Given the description of an element on the screen output the (x, y) to click on. 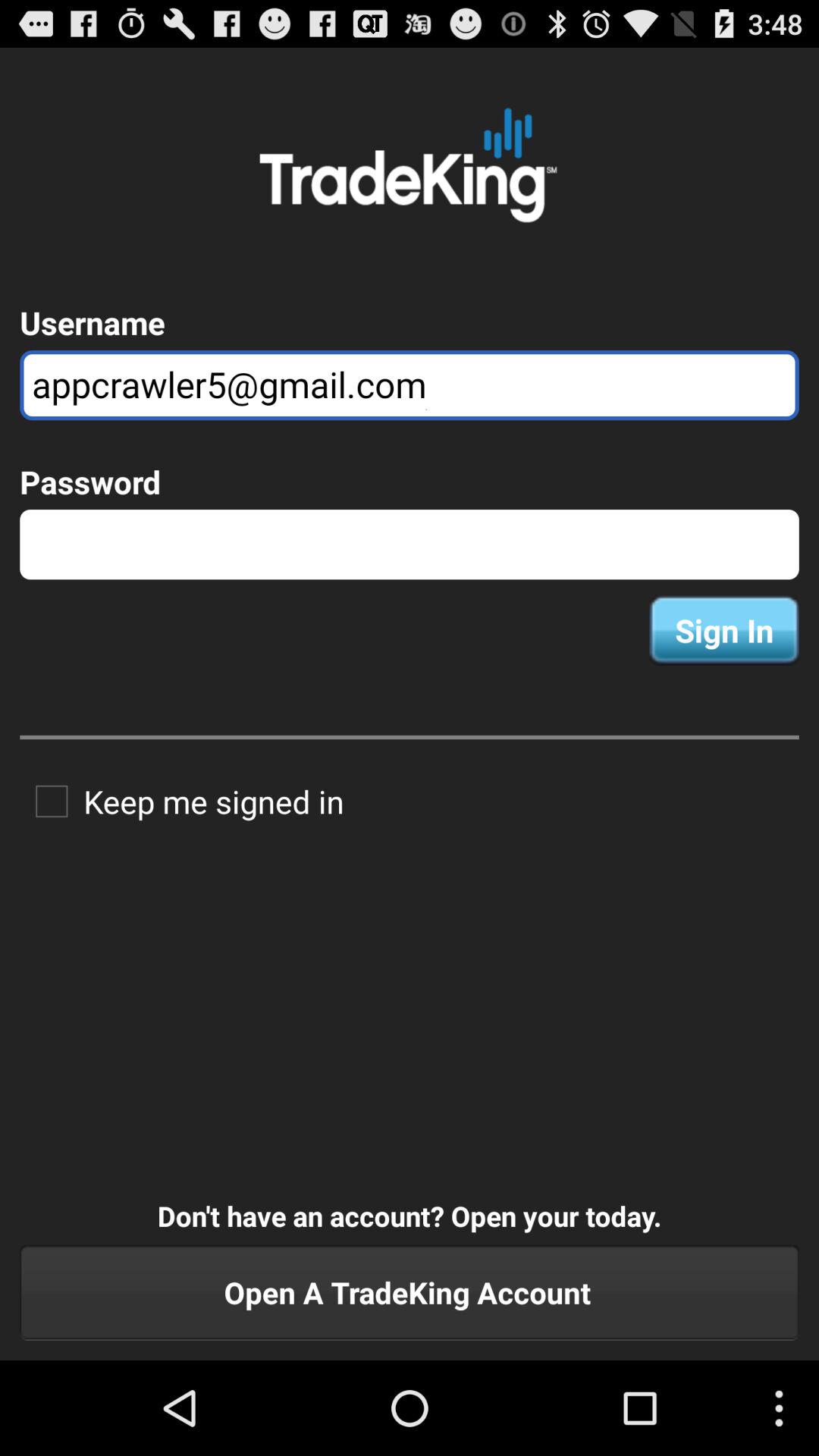
scroll to the keep me signed item (181, 801)
